Given the description of an element on the screen output the (x, y) to click on. 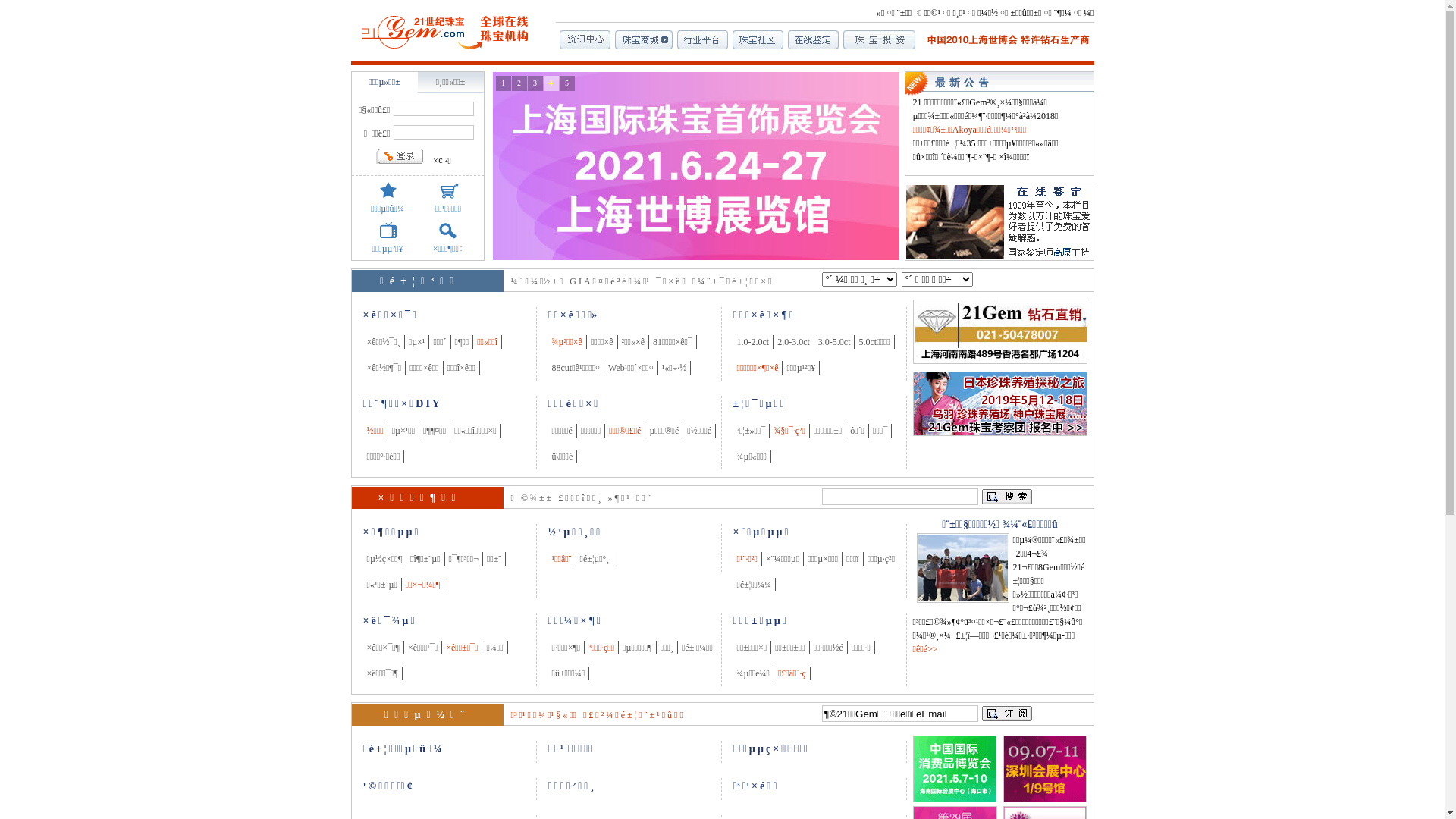
3.0-5.0ct Element type: text (834, 341)
2.0-3.0ct Element type: text (793, 341)
1.0-2.0ct Element type: text (753, 341)
